Given the description of an element on the screen output the (x, y) to click on. 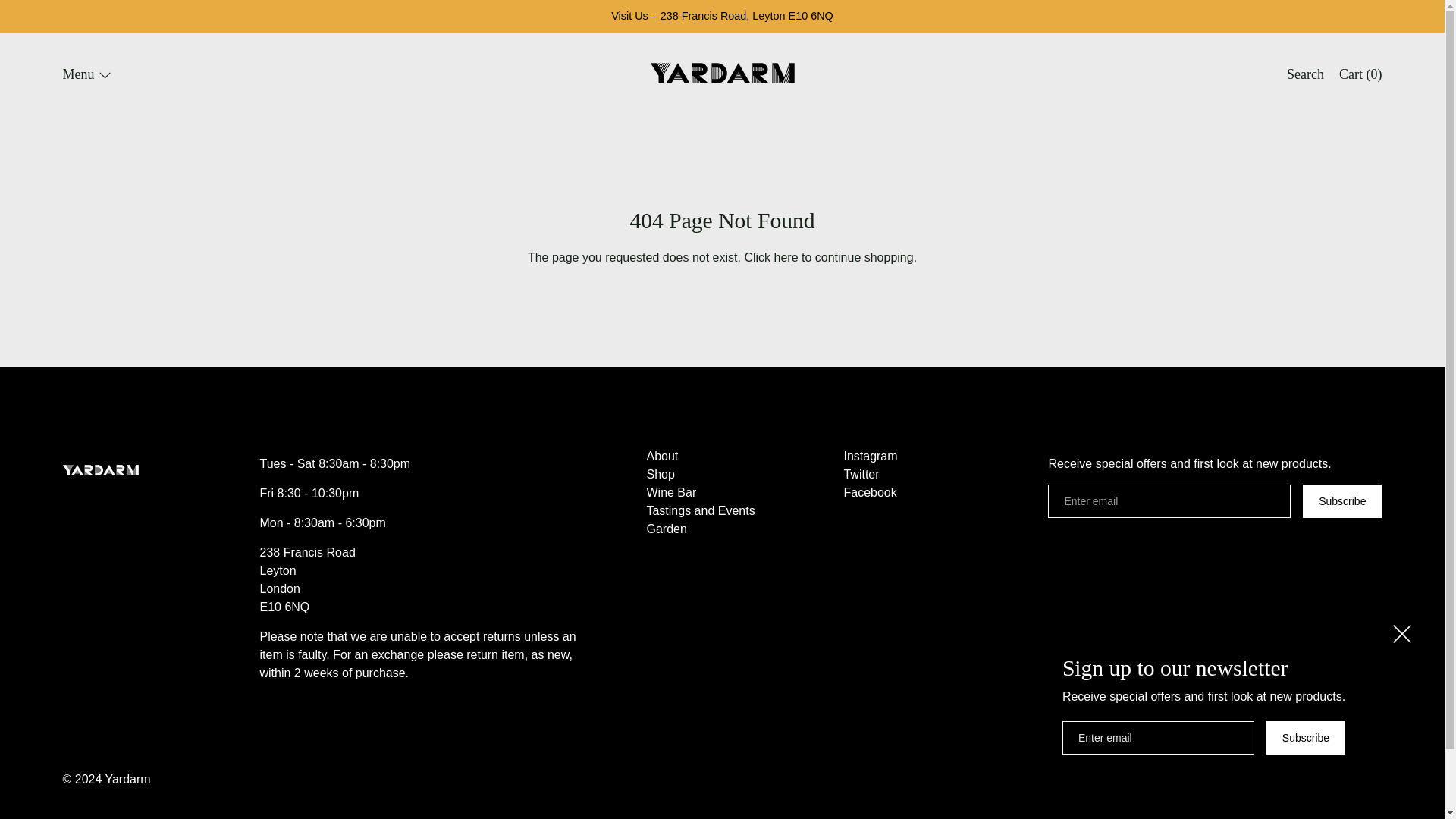
About (662, 456)
Search (1305, 74)
here (785, 256)
Menu (87, 74)
